Given the description of an element on the screen output the (x, y) to click on. 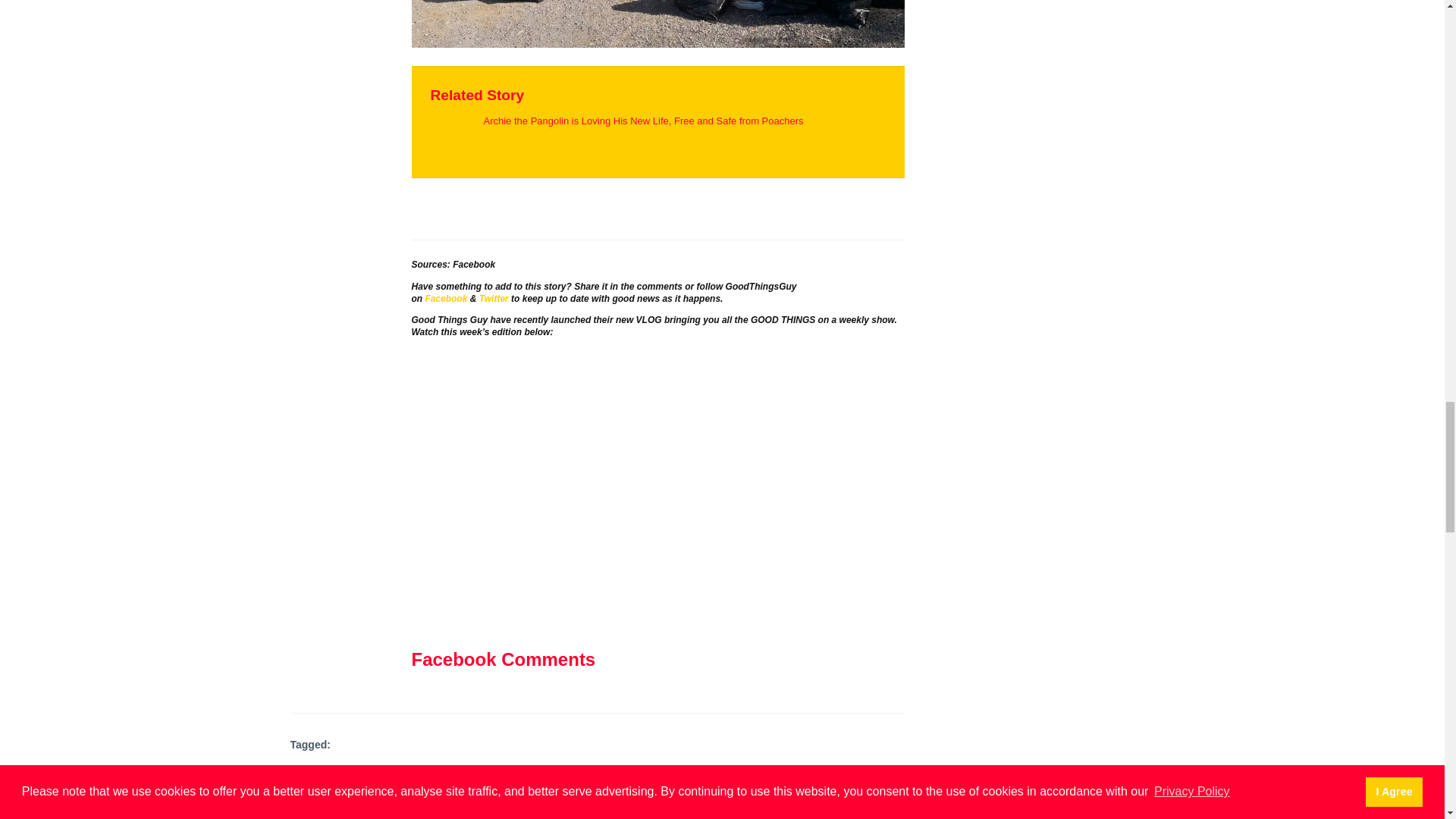
Facebook (473, 264)
Twitter (493, 298)
Facebook (446, 298)
